Given the description of an element on the screen output the (x, y) to click on. 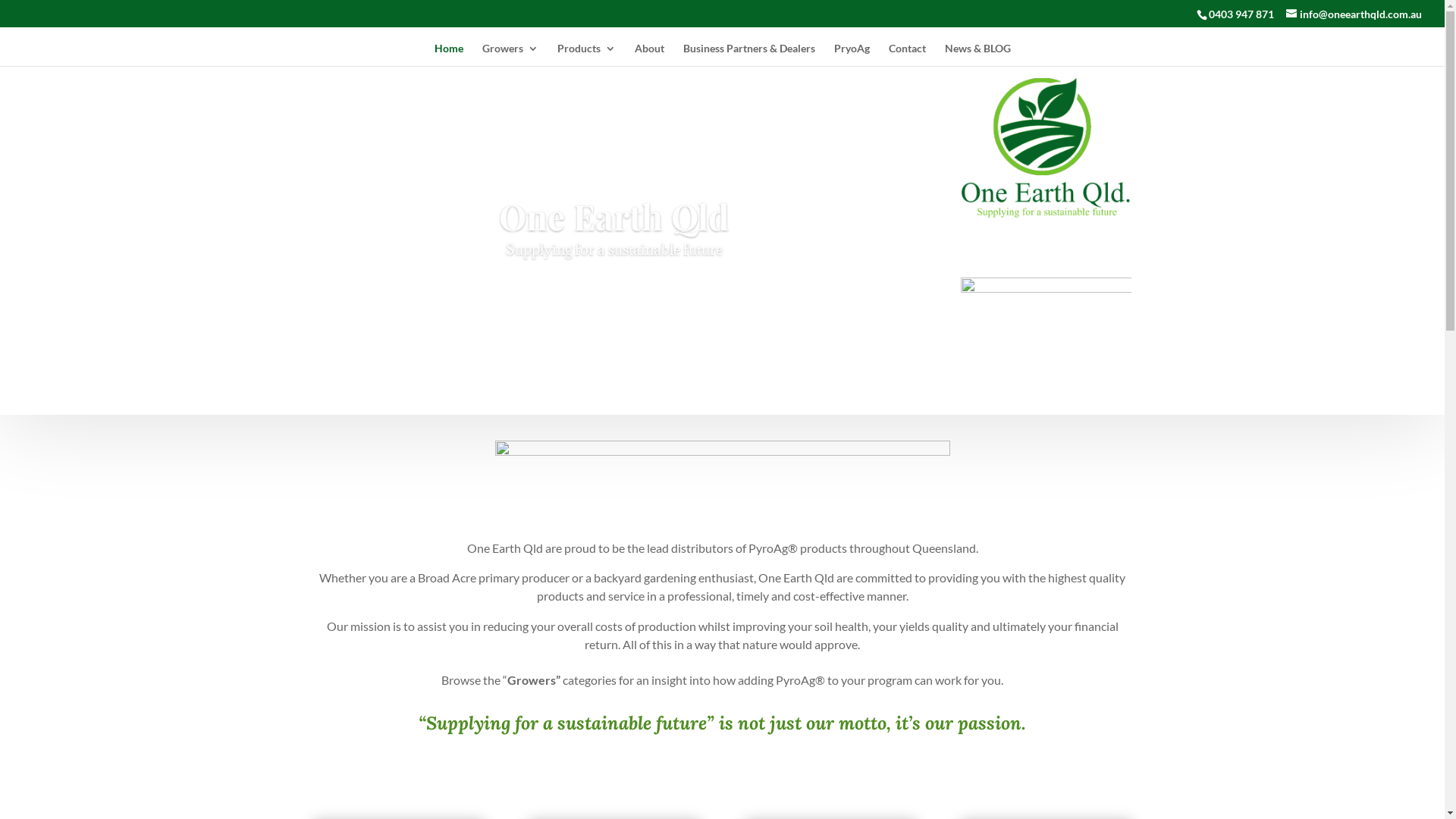
PryoAg Element type: text (851, 54)
Growers Element type: text (510, 54)
Products Element type: text (585, 54)
PyroAg-Wood-vinegar-logo-2 Element type: hover (1045, 302)
info@oneearthqld.com.au Element type: text (1353, 13)
Logo with Writing - PNG Element type: hover (1045, 147)
Welcome (2) Element type: hover (721, 478)
Business Partners & Dealers Element type: text (748, 54)
About Element type: text (648, 54)
Home Element type: text (447, 54)
News & BLOG Element type: text (977, 54)
Contact Element type: text (906, 54)
